Given the description of an element on the screen output the (x, y) to click on. 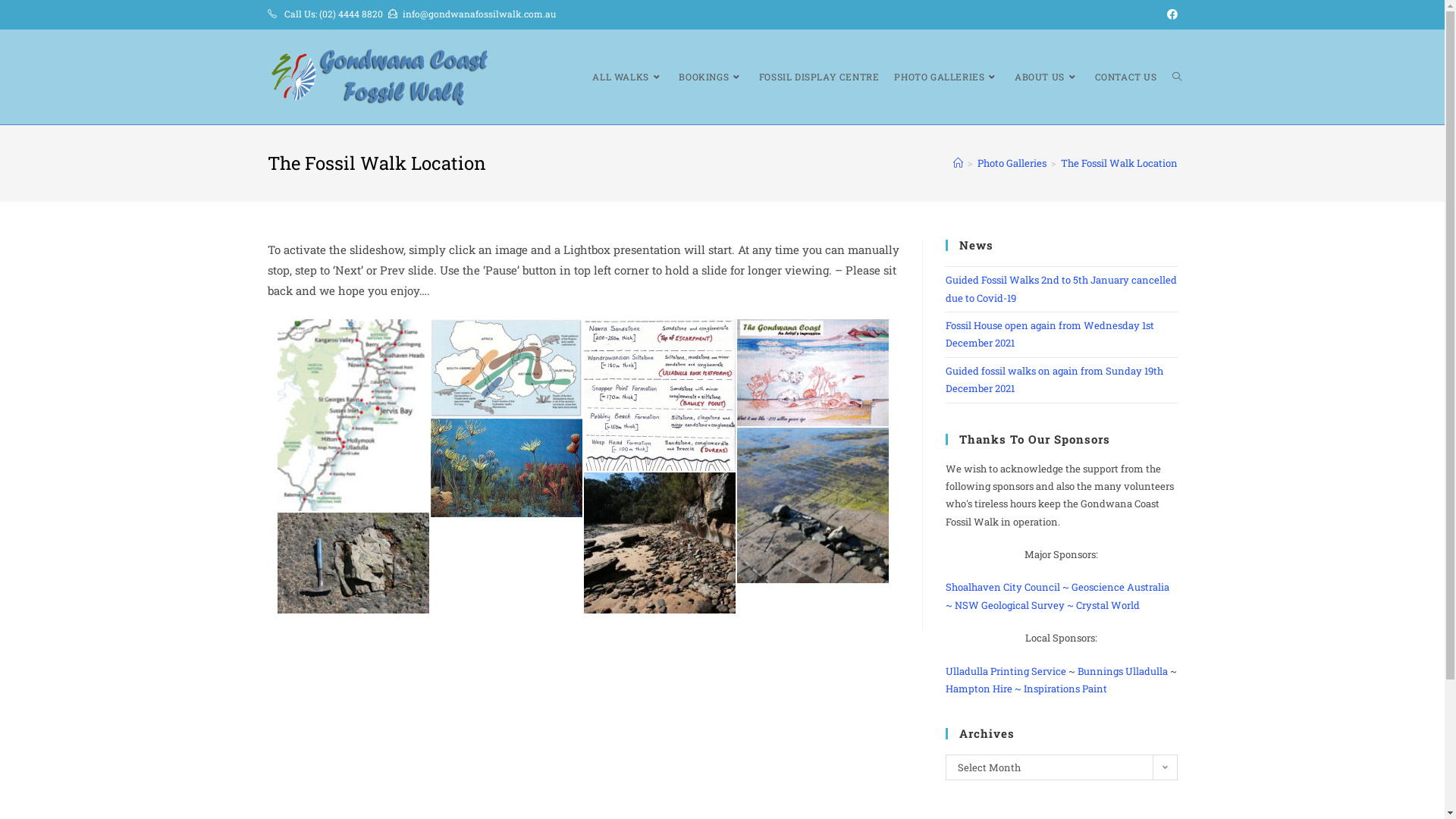
Geoscience Australia ~ Element type: text (1056, 595)
CONTACT US Element type: text (1125, 76)
TOGGLE WEBSITE SEARCH Element type: text (1176, 76)
PHOTO GALLERIES Element type: text (946, 76)
The Fossil Walk Location Element type: text (1118, 162)
Photo Galleries Element type: text (1010, 162)
info@gondwanafossilwalk.com.au Element type: text (478, 13)
Guided fossil walks on again from Sunday 19th December 2021 Element type: text (1053, 379)
Ulladulla Printing Service Element type: text (1004, 670)
Fossil House open again from Wednesday 1st December 2021 Element type: text (1048, 333)
FOSSIL DISPLAY CENTRE Element type: text (819, 76)
ALL WALKS Element type: text (627, 76)
Shoalhaven City Council ~ Element type: text (1006, 586)
Crystal World Element type: text (1107, 604)
BOOKINGS Element type: text (710, 76)
NSW Geological Survey ~ Element type: text (1013, 604)
Inspirations Paint Element type: text (1065, 688)
Hampton Hire ~ Element type: text (982, 688)
ABOUT US Element type: text (1046, 76)
Bunnings Ulladulla Element type: text (1121, 670)
Call Us: (02) 4444 8820 Element type: text (332, 13)
